Given the description of an element on the screen output the (x, y) to click on. 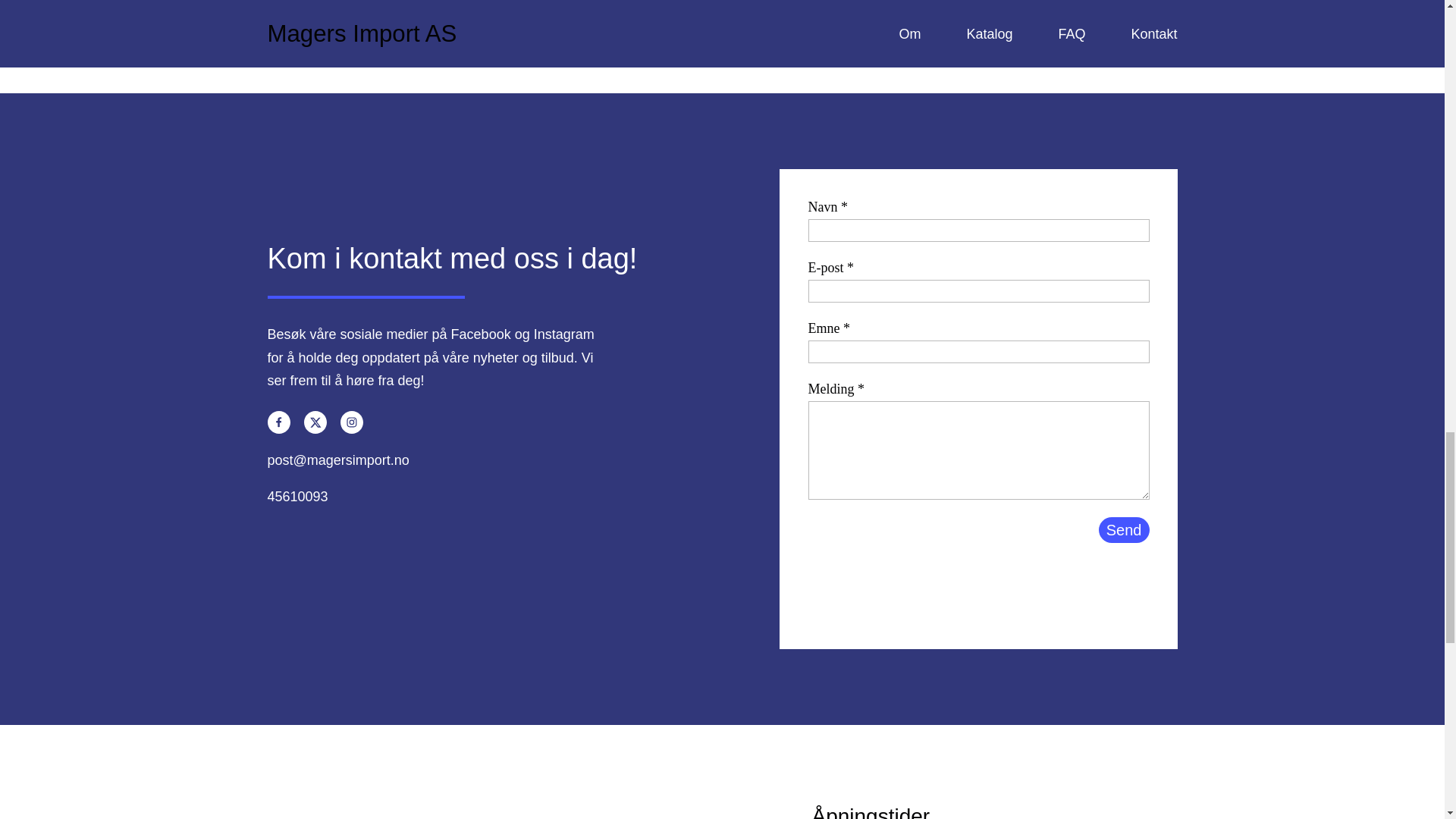
Send (1124, 529)
45610093 (296, 496)
Send (1124, 529)
